Given the description of an element on the screen output the (x, y) to click on. 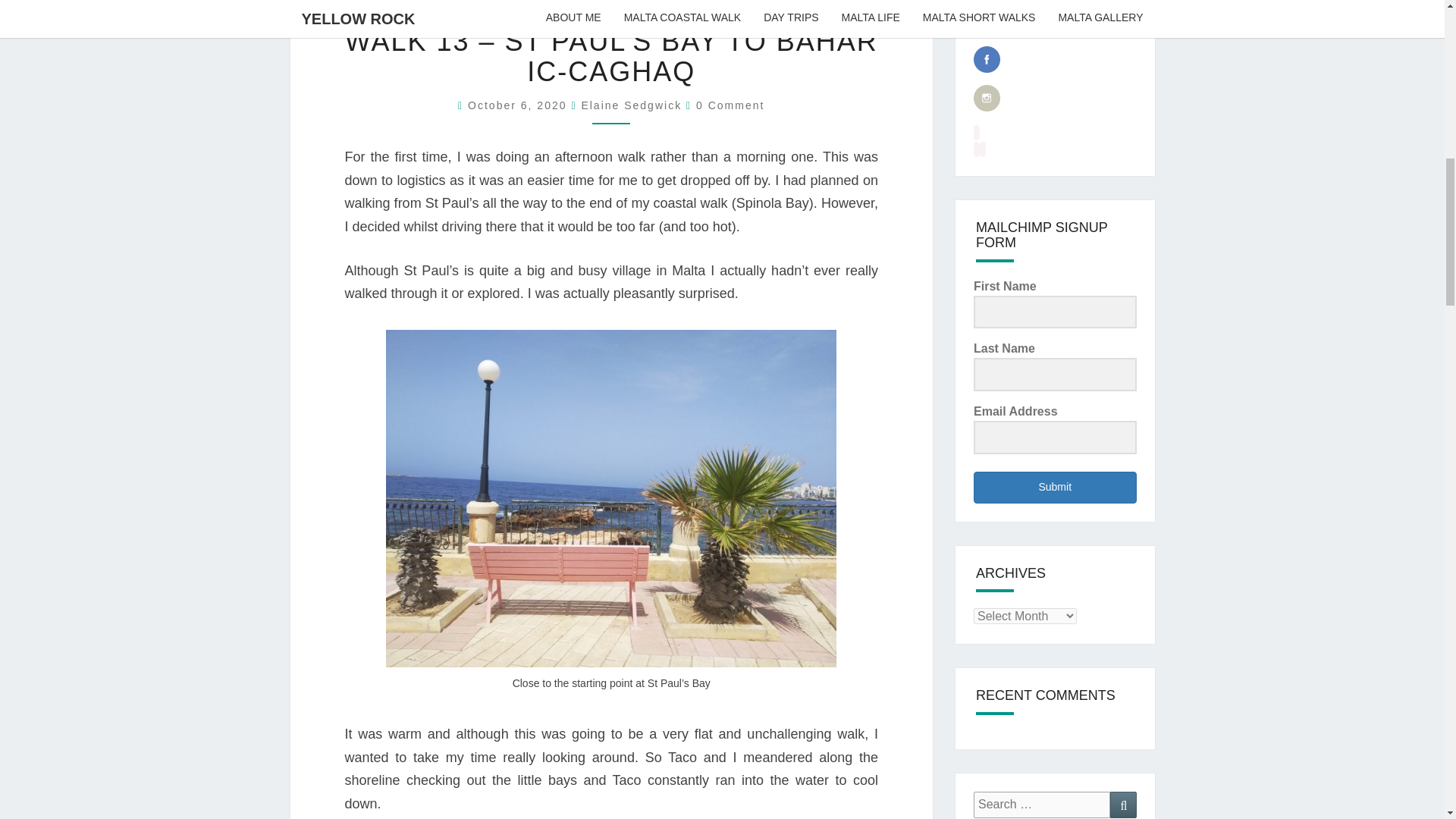
Search for: (1041, 804)
0 Comment (729, 105)
Instagram (987, 98)
October 6, 2020 (518, 105)
Facebook (987, 58)
Submit (1055, 487)
View all posts by Elaine Sedgwick (630, 105)
Search (1123, 804)
Elaine Sedgwick (630, 105)
12:45 pm (518, 105)
